Given the description of an element on the screen output the (x, y) to click on. 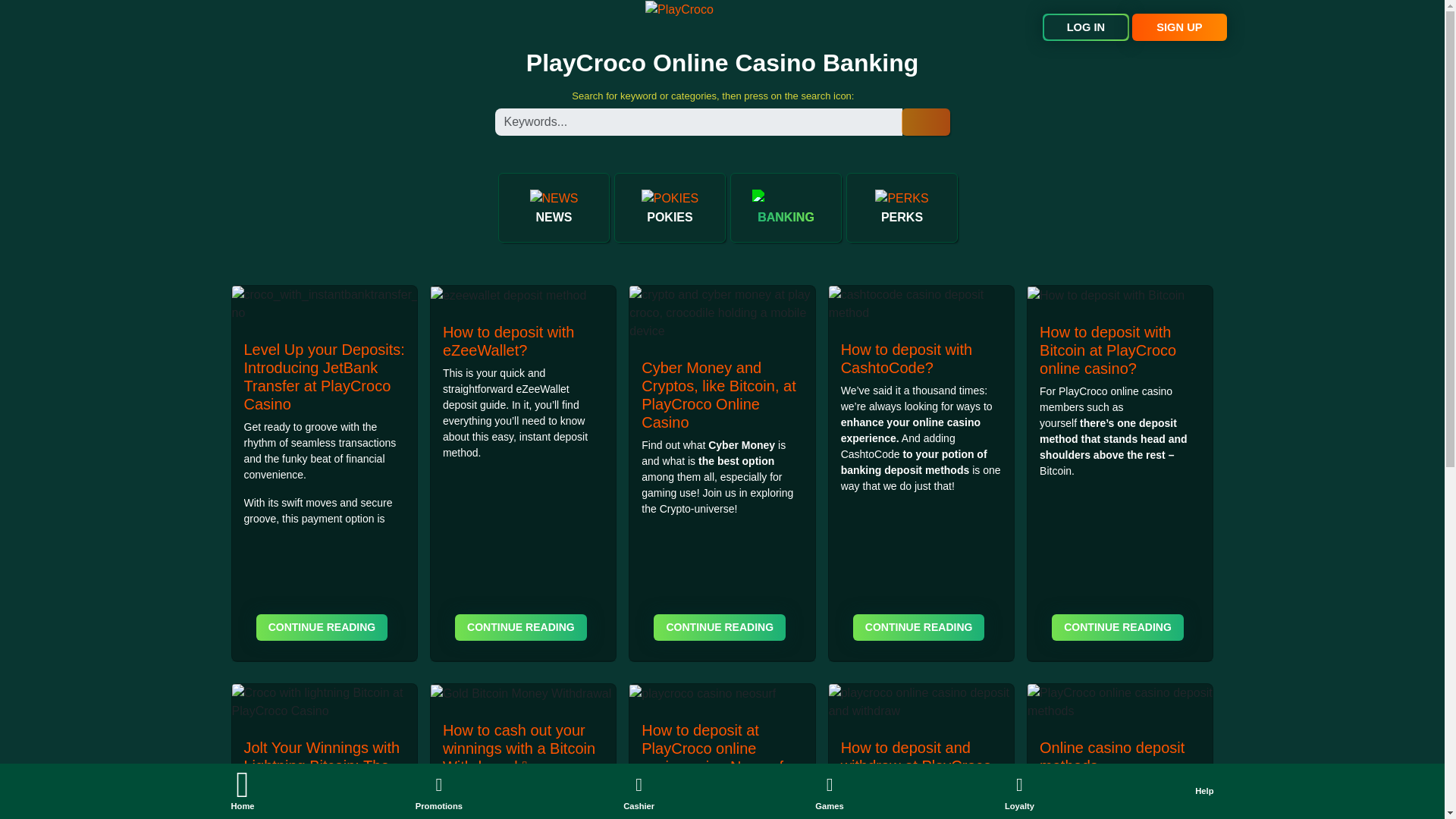
LOG IN (1085, 26)
CONTINUE READING (919, 627)
Neosurf (689, 818)
POKIES (670, 208)
neosurf australia (689, 818)
playcroco best online casino australia (1115, 390)
CONTINUE READING (520, 627)
PlayCroco online casino deposit methods (1119, 701)
How to deposit with Bitcoin (1106, 295)
PlayCroco (679, 9)
CONTINUE READING (719, 627)
cashtocode casino deposit method (920, 303)
playcroco casino neosurf (702, 693)
CONTINUE READING (322, 627)
PERKS (901, 208)
